Given the description of an element on the screen output the (x, y) to click on. 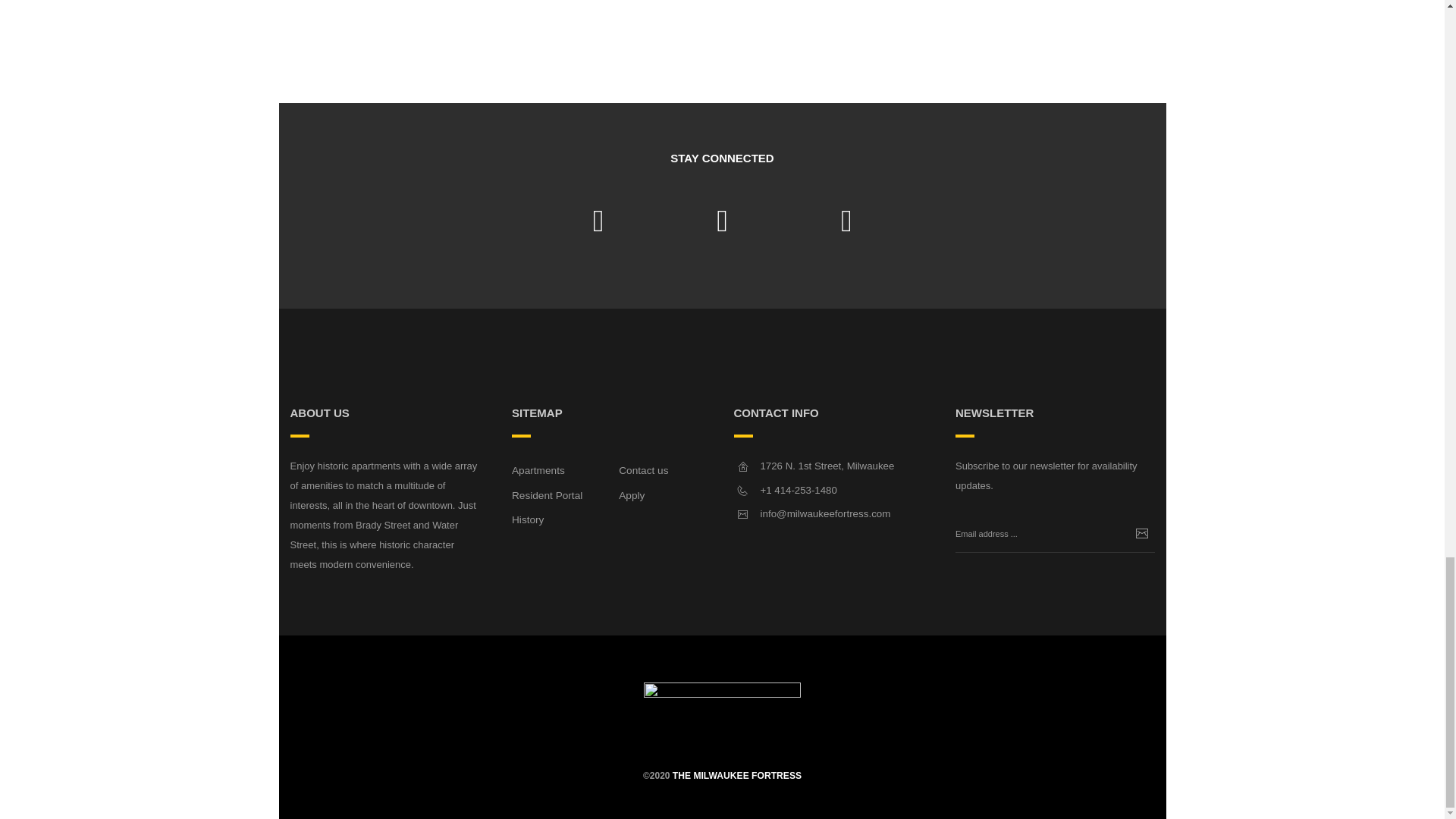
Apply (631, 495)
Contact us (643, 470)
History (527, 519)
Apartments (538, 470)
Resident Portal (547, 495)
